Given the description of an element on the screen output the (x, y) to click on. 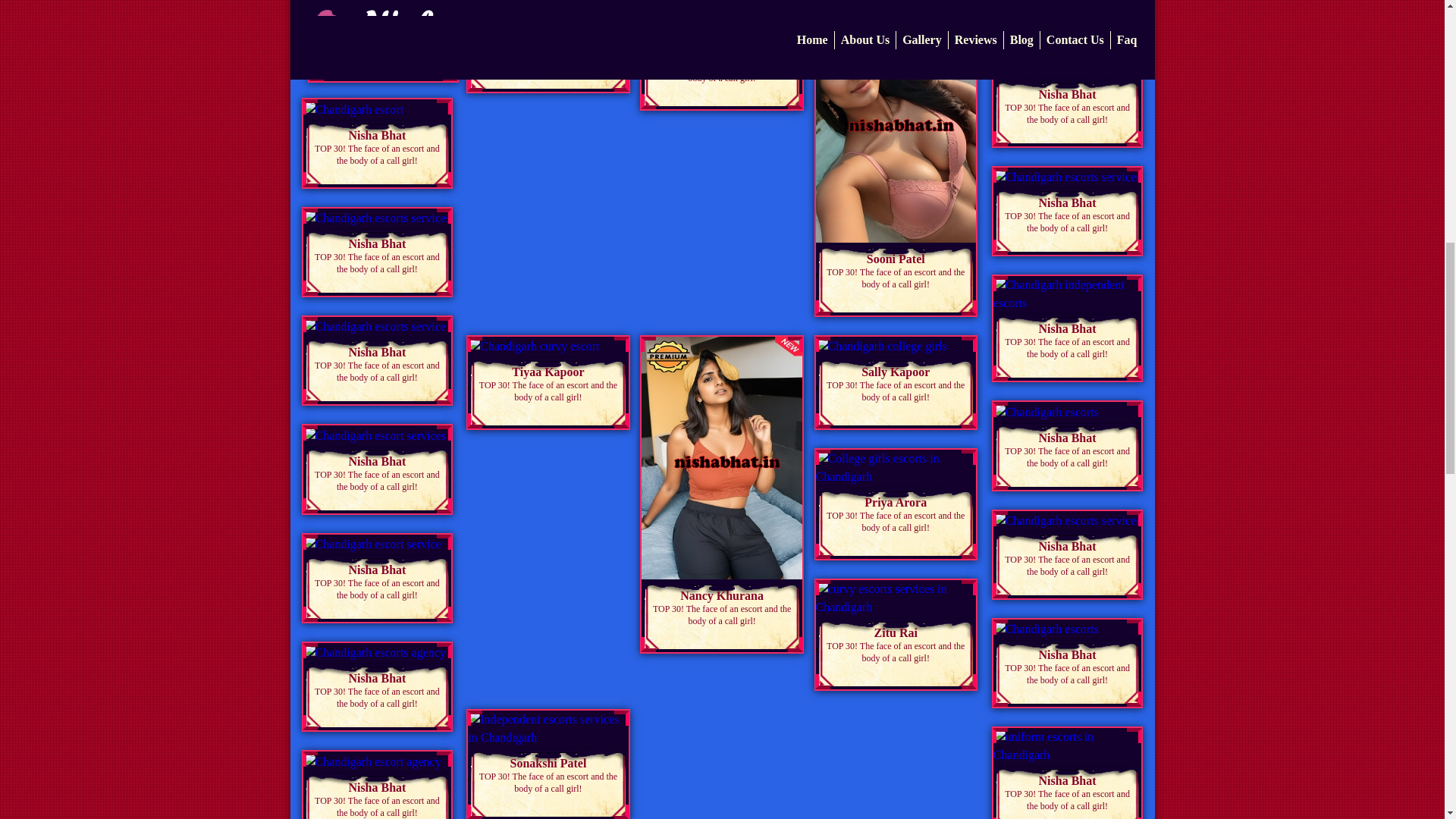
Women Seeking Men (382, 57)
Massage Girls Escorts (382, 9)
Couples Service (382, 32)
